Given the description of an element on the screen output the (x, y) to click on. 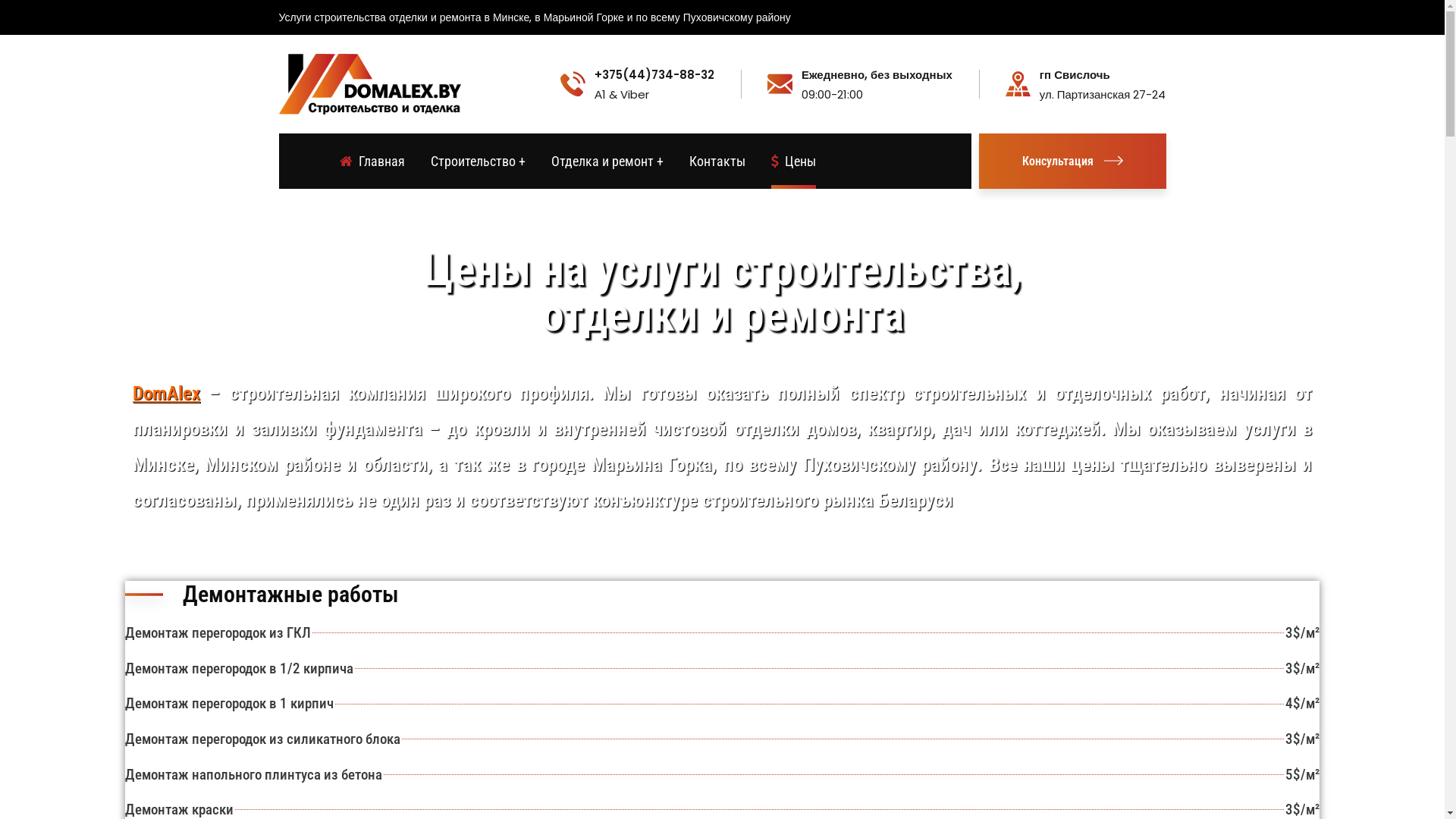
DomAlex Element type: text (166, 393)
